Given the description of an element on the screen output the (x, y) to click on. 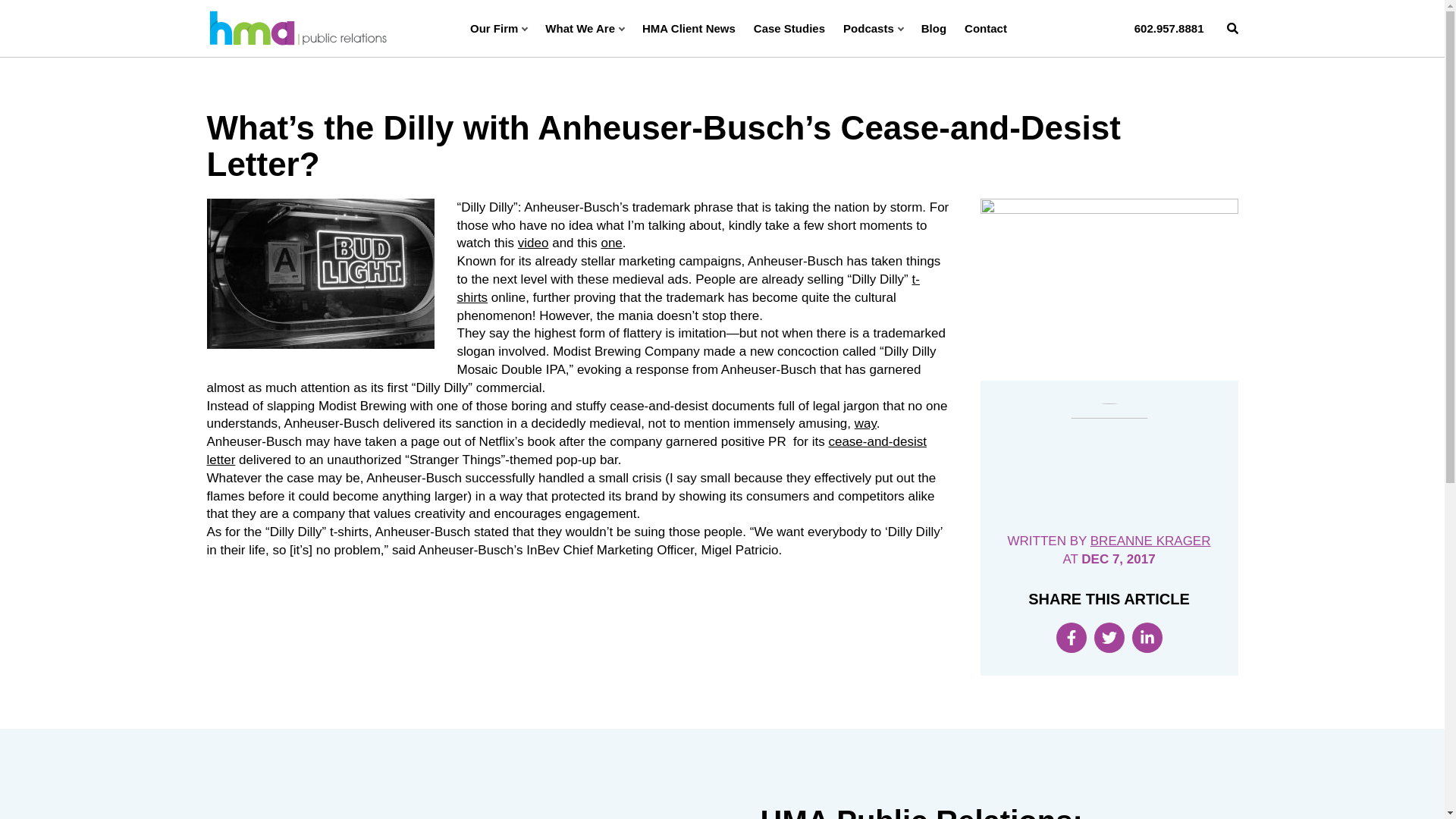
Podcasts (872, 28)
602.957.8881 (1169, 28)
Posts by Breanne Krager (1150, 540)
BREANNE KRAGER (1150, 540)
video (533, 242)
one (610, 242)
way (865, 423)
HMA Client News (688, 28)
Our Firm (498, 28)
cease-and-desist letter (566, 450)
